Given the description of an element on the screen output the (x, y) to click on. 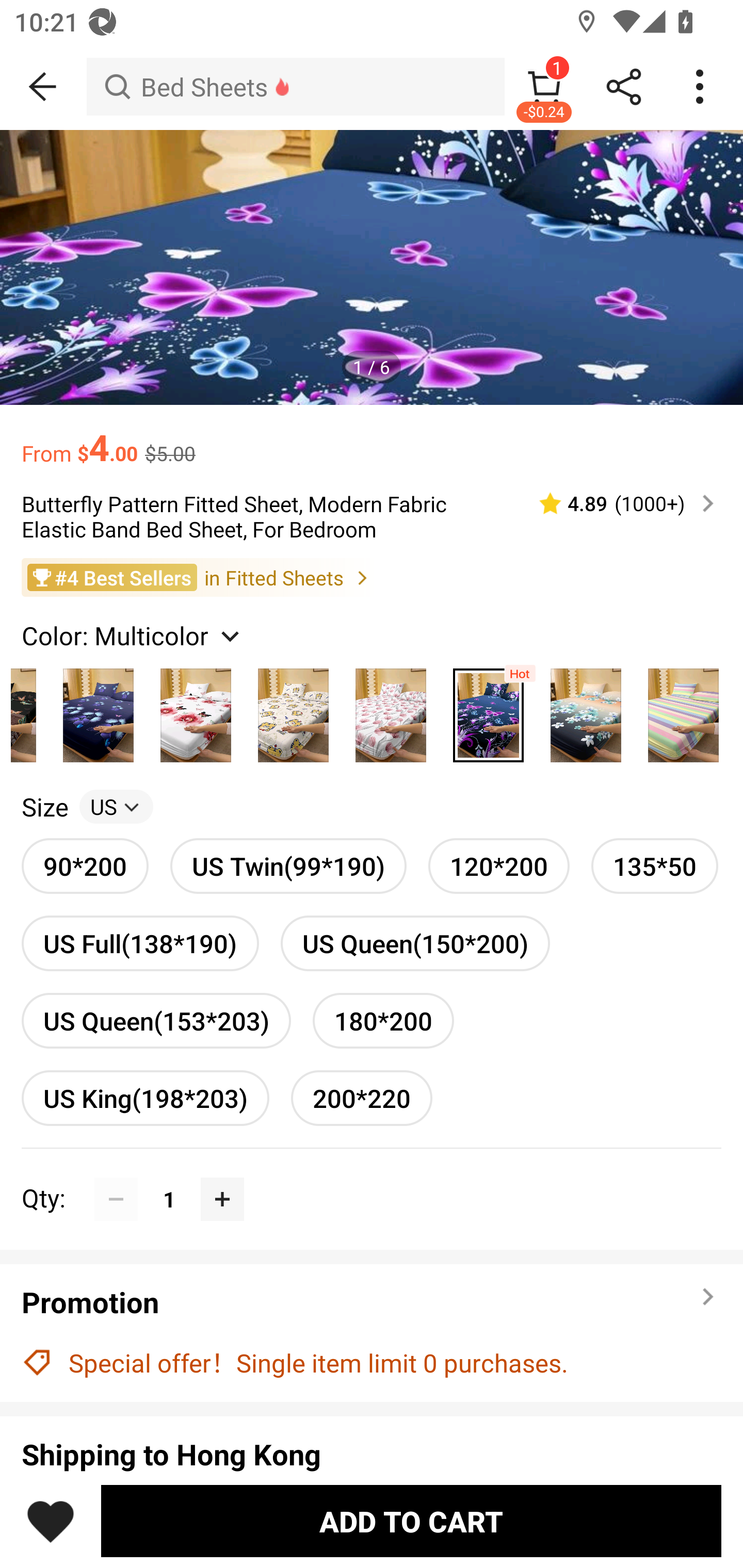
BACK (43, 86)
1 -$0.24 (543, 87)
Bed Sheets (295, 87)
PHOTOS 1 / 6 (371, 267)
1 / 6 (371, 366)
From  $4.00 $5.00 (371, 437)
4.89 (1000‎+) (617, 503)
#4 Best Sellers in Fitted Sheets (371, 577)
Color: Multicolor (132, 634)
Multicolor (98, 710)
Multicolor (195, 710)
Multicolor (292, 710)
Multicolor (390, 710)
Multicolor (488, 710)
Multicolor (585, 710)
Multicolor (682, 710)
Size (44, 806)
US (116, 806)
90*200 90*200unselected option (84, 865)
US Twin(99*190) US Twin(99*190)unselected option (288, 865)
120*200 120*200unselected option (498, 865)
135*50 135*50unselected option (654, 865)
US Full(138*190) US Full(138*190)unselected option (140, 942)
180*200 180*200unselected option (382, 1020)
US King(198*203) US King(198*203)unselected option (144, 1097)
200*220 200*220unselected option (361, 1097)
Qty: 1 (371, 1177)
Shipping to Hong Kong (371, 1453)
ADD TO CART (411, 1520)
Saved (50, 1520)
